Given the description of an element on the screen output the (x, y) to click on. 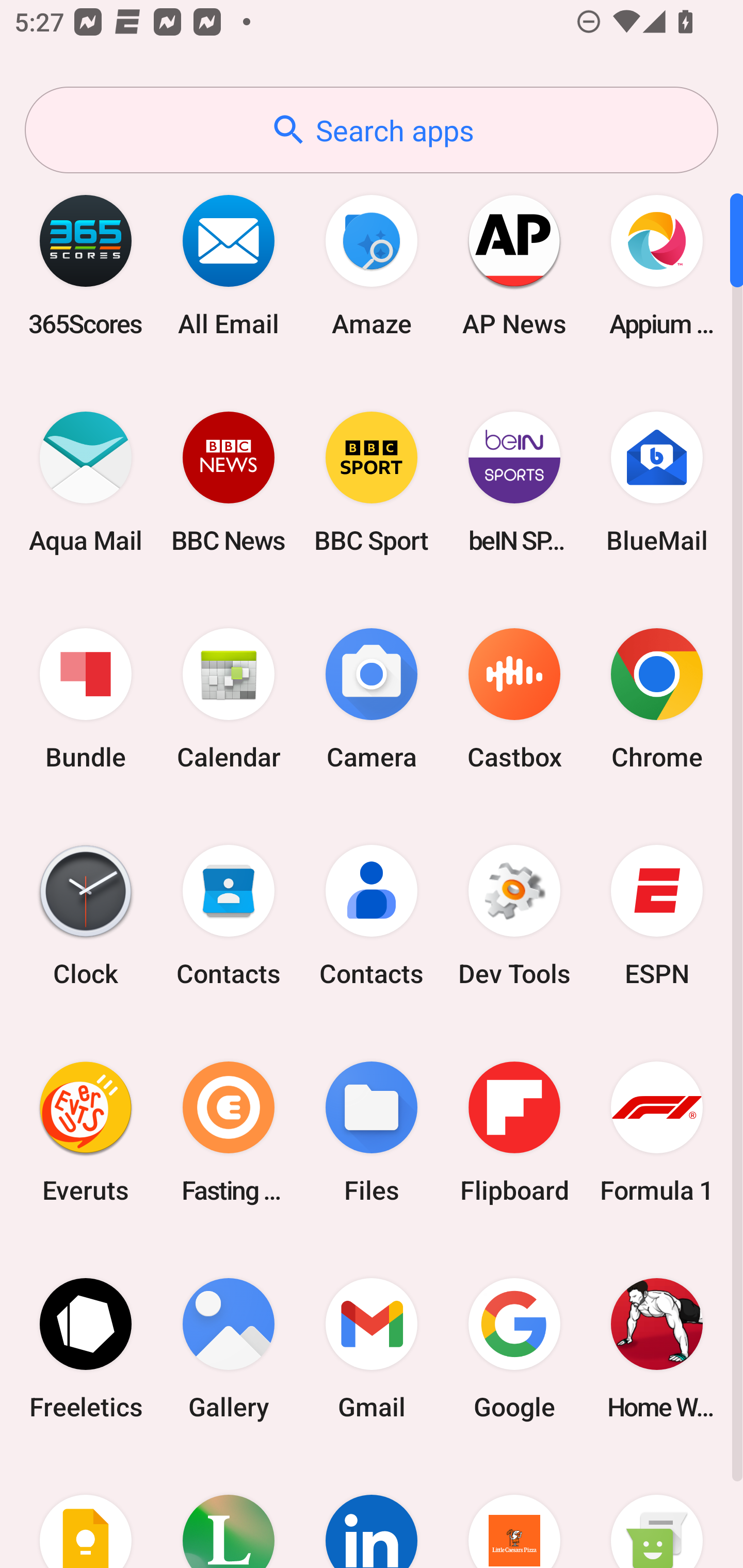
  Search apps (371, 130)
365Scores (85, 264)
All Email (228, 264)
Amaze (371, 264)
AP News (514, 264)
Appium Settings (656, 264)
Aqua Mail (85, 482)
BBC News (228, 482)
BBC Sport (371, 482)
beIN SPORTS (514, 482)
BlueMail (656, 482)
Bundle (85, 699)
Calendar (228, 699)
Camera (371, 699)
Castbox (514, 699)
Chrome (656, 699)
Clock (85, 915)
Contacts (228, 915)
Contacts (371, 915)
Dev Tools (514, 915)
ESPN (656, 915)
Everuts (85, 1131)
Fasting Coach (228, 1131)
Files (371, 1131)
Flipboard (514, 1131)
Formula 1 (656, 1131)
Freeletics (85, 1348)
Gallery (228, 1348)
Gmail (371, 1348)
Google (514, 1348)
Home Workout (656, 1348)
Keep Notes (85, 1512)
Lifesum (228, 1512)
LinkedIn (371, 1512)
Little Caesars Pizza (514, 1512)
Messaging (656, 1512)
